Given the description of an element on the screen output the (x, y) to click on. 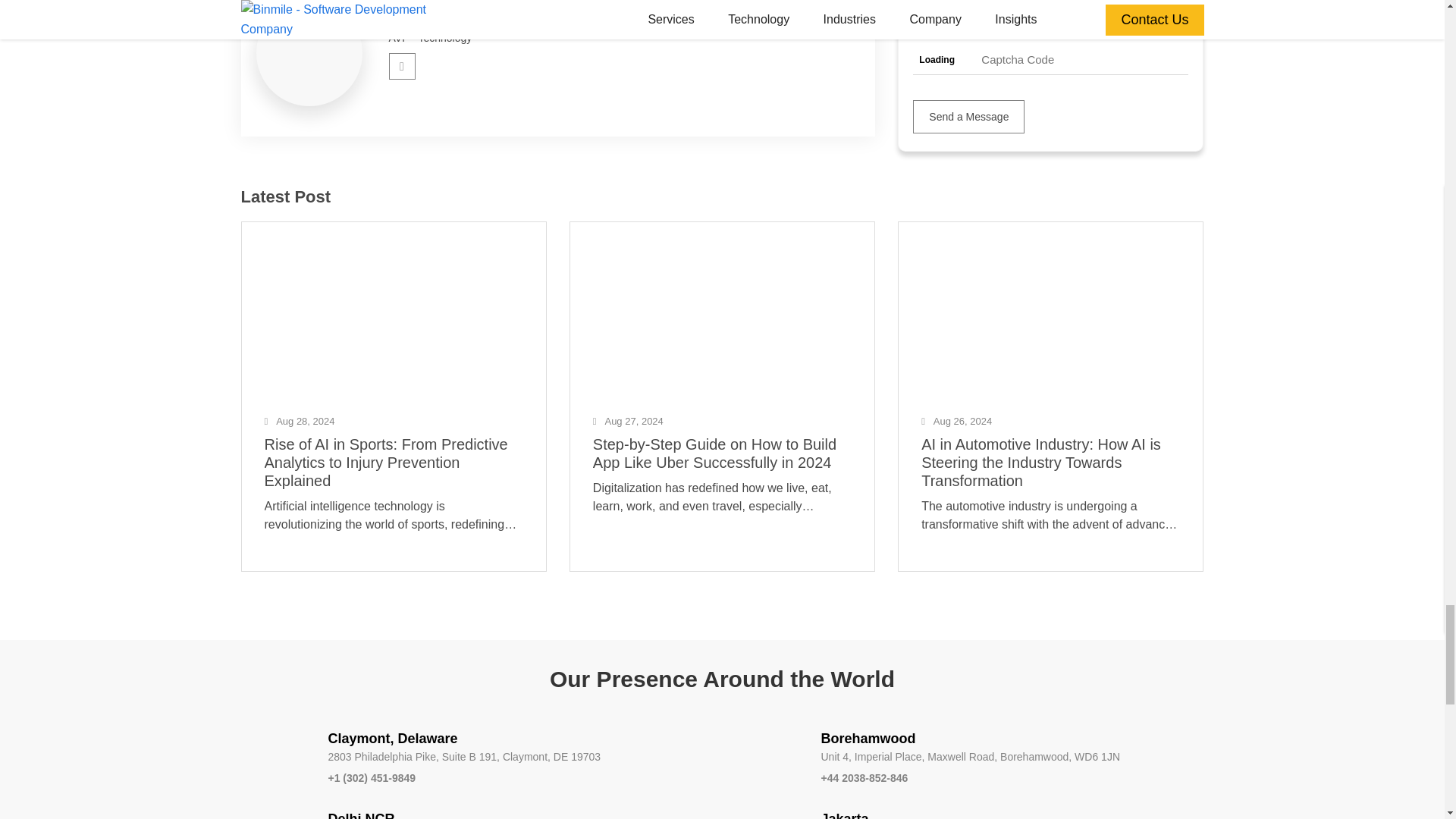
LinkedIn (401, 66)
